Given the description of an element on the screen output the (x, y) to click on. 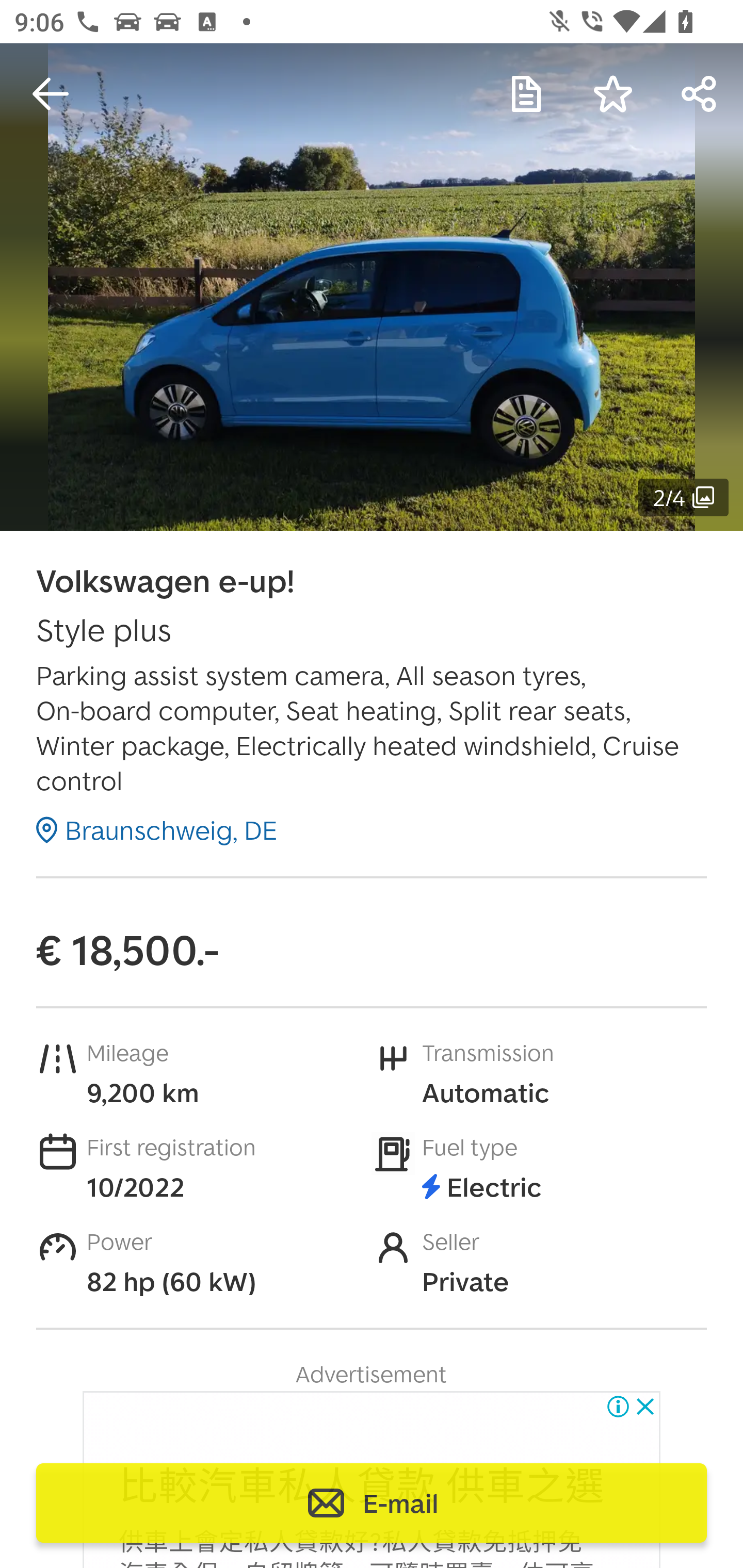
Navigate up (50, 93)
My Notes (525, 93)
Save (612, 93)
Forward (699, 93)
Braunschweig, DE (156, 829)
E-mail (371, 1502)
